Given the description of an element on the screen output the (x, y) to click on. 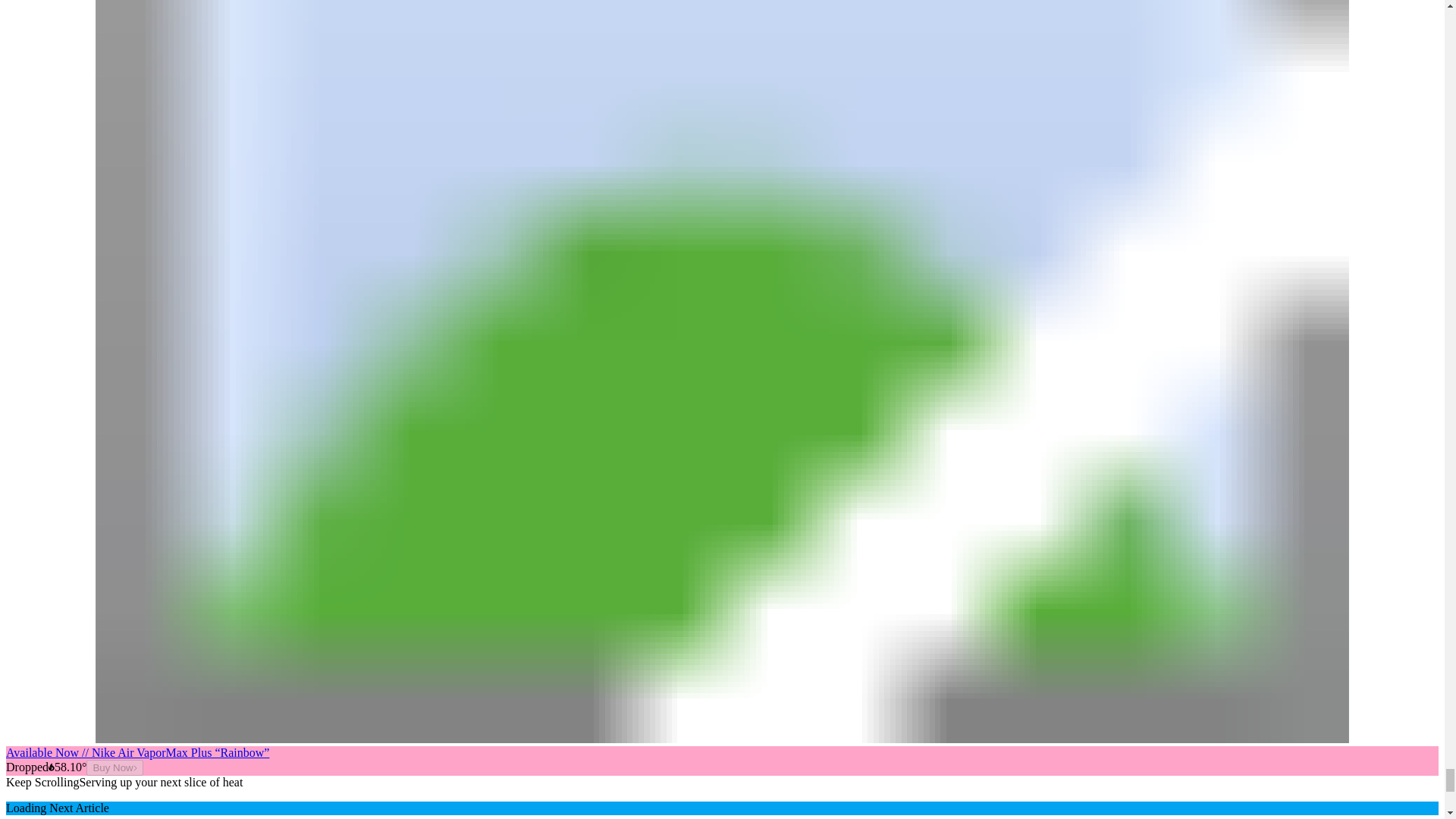
Buy Now (113, 767)
